Given the description of an element on the screen output the (x, y) to click on. 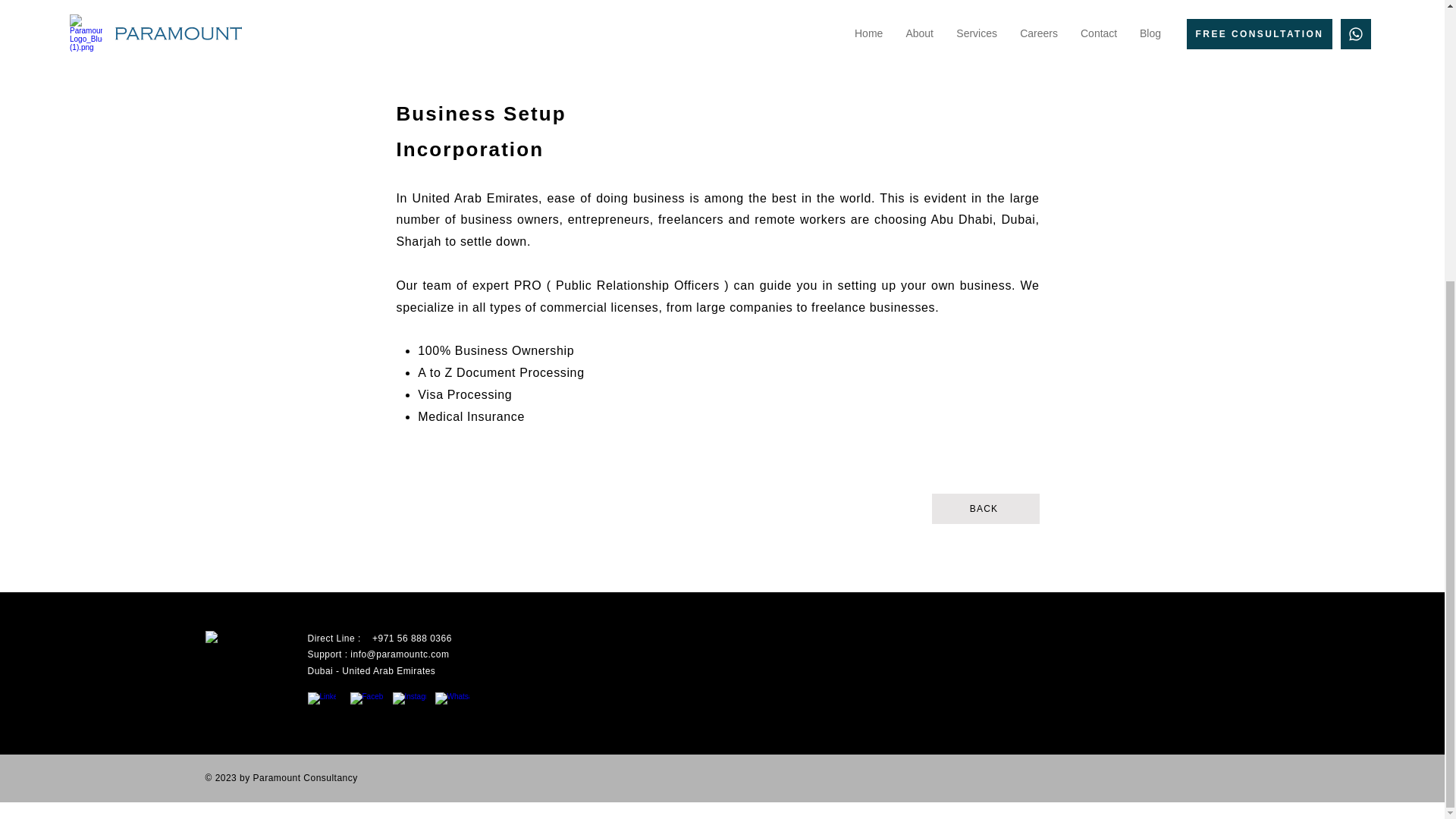
BACK (985, 508)
